Given the description of an element on the screen output the (x, y) to click on. 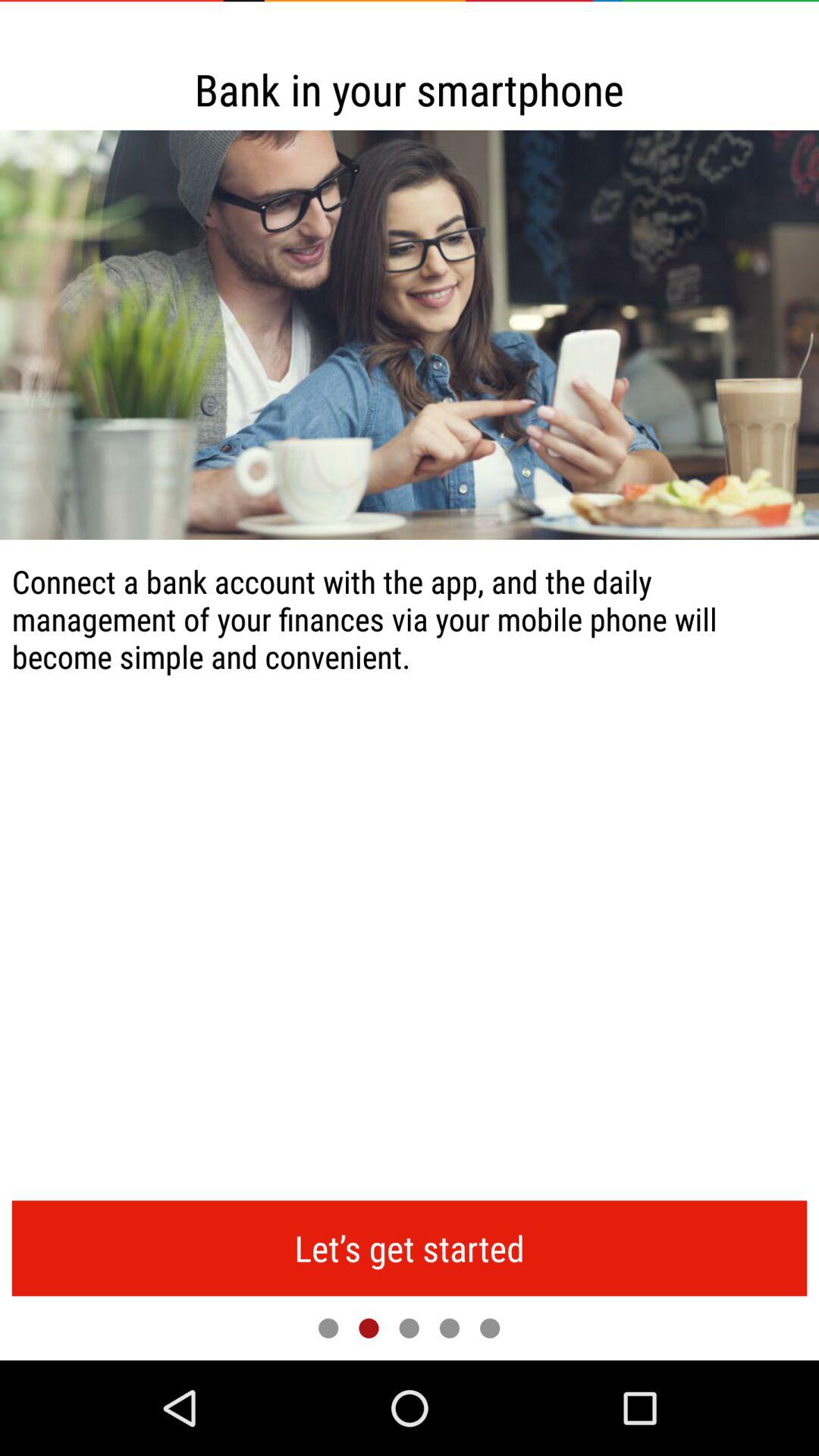
press item below the let s get icon (449, 1328)
